Given the description of an element on the screen output the (x, y) to click on. 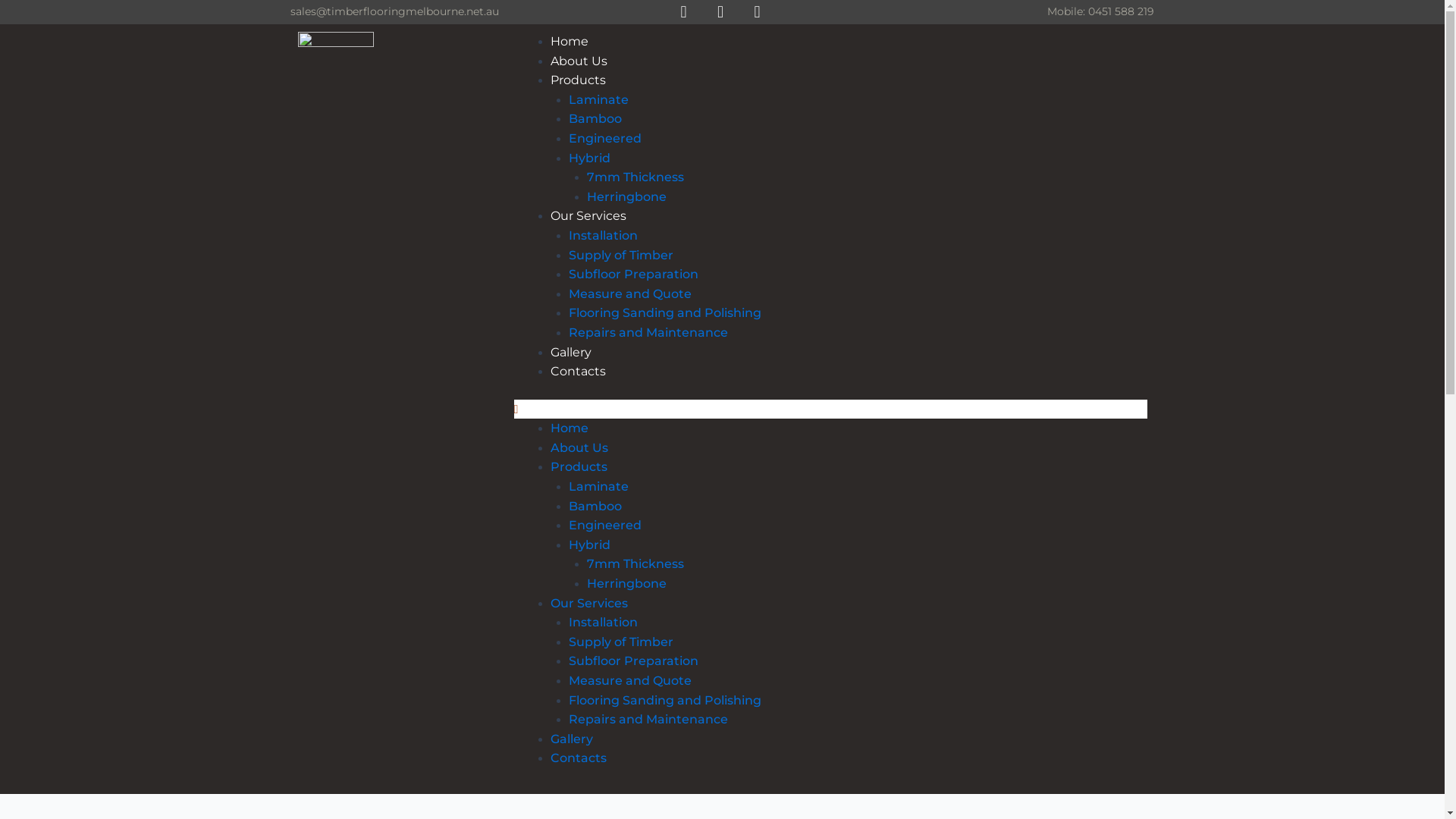
Home Element type: text (569, 427)
About Us Element type: text (579, 447)
Our Services Element type: text (588, 603)
Mobile: 0451 588 219 Element type: text (1100, 11)
About Us Element type: text (578, 60)
sales@timberflooringmelbourne.net.au Element type: text (393, 11)
Measure and Quote Element type: text (629, 680)
Installation Element type: text (602, 235)
7mm Thickness Element type: text (635, 563)
Installation Element type: text (602, 622)
Flooring Sanding and Polishing Element type: text (664, 700)
Hybrid Element type: text (589, 544)
Products Element type: text (578, 466)
Bamboo Element type: text (594, 505)
Contacts Element type: text (578, 757)
7mm Thickness Element type: text (635, 176)
Gallery Element type: text (570, 351)
Laminate Element type: text (598, 99)
Supply of Timber Element type: text (620, 254)
Hybrid Element type: text (589, 157)
Our Services Element type: text (588, 215)
Contacts Element type: text (577, 371)
Herringbone Element type: text (626, 196)
Herringbone Element type: text (626, 583)
Gallery Element type: text (571, 738)
Subfloor Preparation Element type: text (633, 660)
Engineered Element type: text (604, 524)
Measure and Quote Element type: text (629, 293)
Products Element type: text (577, 79)
Laminate Element type: text (598, 486)
Repairs and Maintenance Element type: text (648, 719)
Supply of Timber Element type: text (620, 641)
Bamboo Element type: text (594, 118)
Subfloor Preparation Element type: text (633, 273)
Flooring Sanding and Polishing Element type: text (664, 312)
Home Element type: text (569, 41)
Engineered Element type: text (604, 138)
Repairs and Maintenance Element type: text (648, 332)
